Given the description of an element on the screen output the (x, y) to click on. 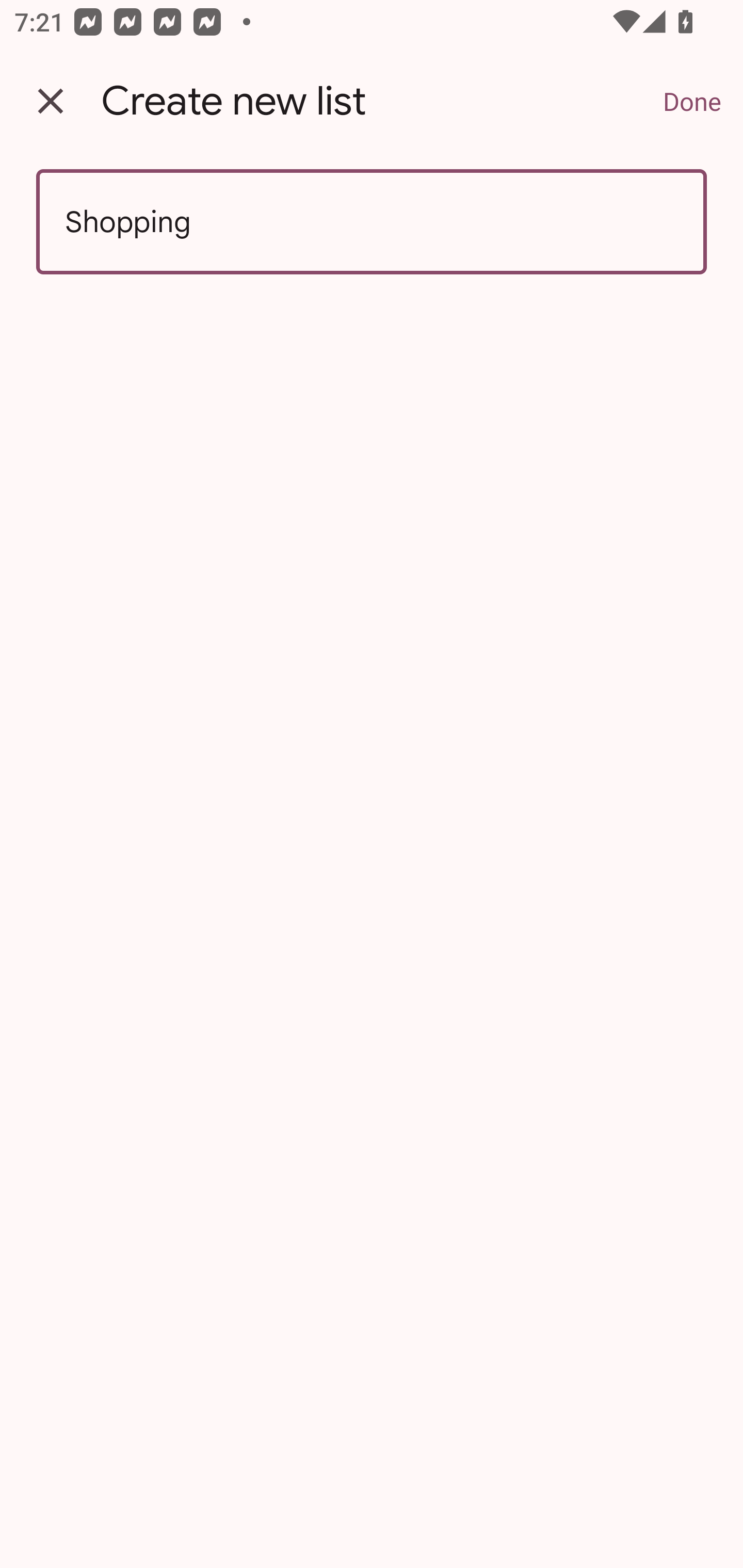
Back (50, 101)
Done (692, 101)
Shopping (371, 221)
